Given the description of an element on the screen output the (x, y) to click on. 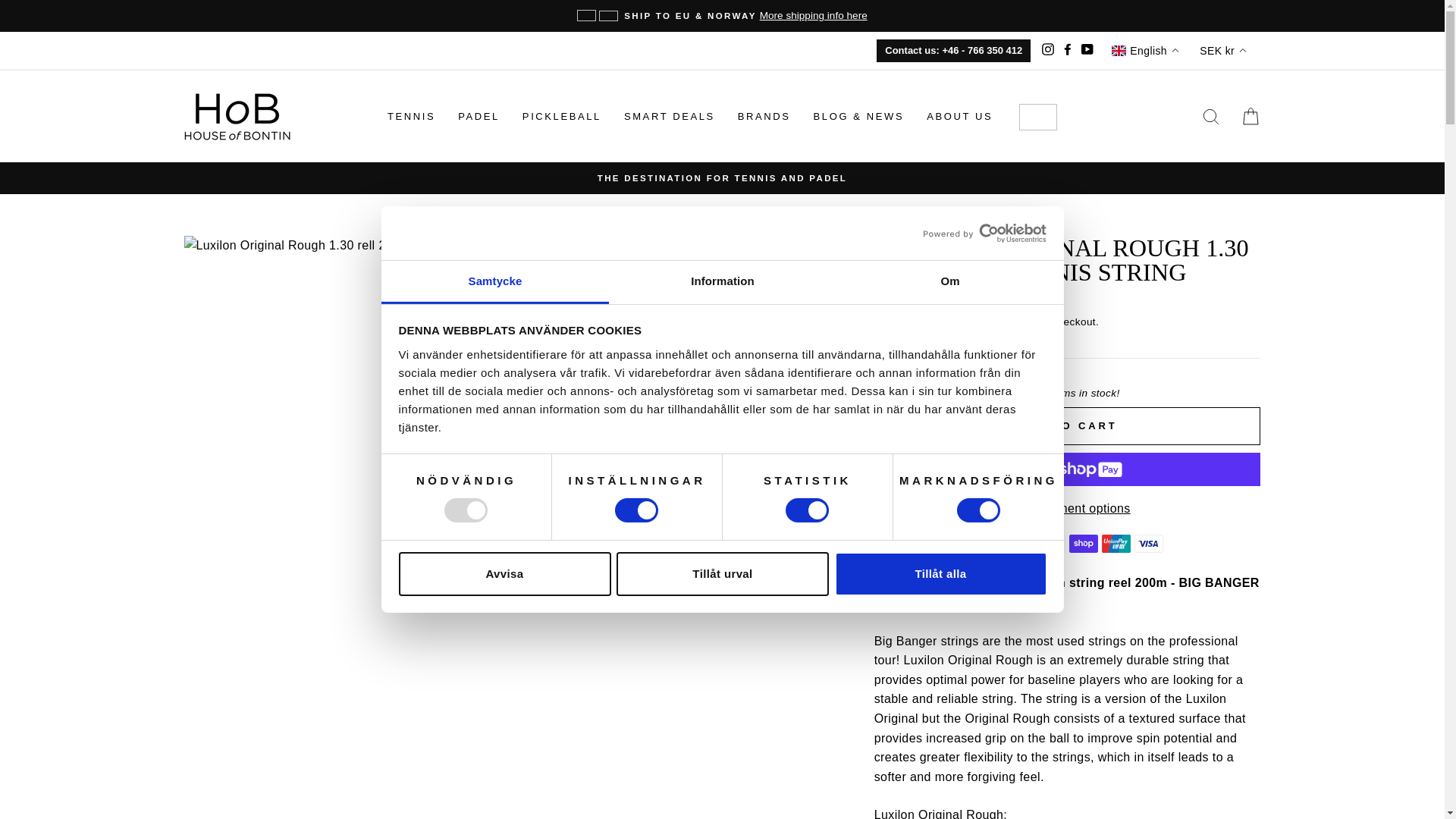
Om (948, 282)
Maestro (985, 543)
Samtycke (494, 282)
Information (721, 282)
Visa (1148, 543)
Apple Pay (888, 543)
Klarna (953, 543)
Union Pay (1116, 543)
Shop Pay (1082, 543)
Mastercard (1018, 543)
